Given the description of an element on the screen output the (x, y) to click on. 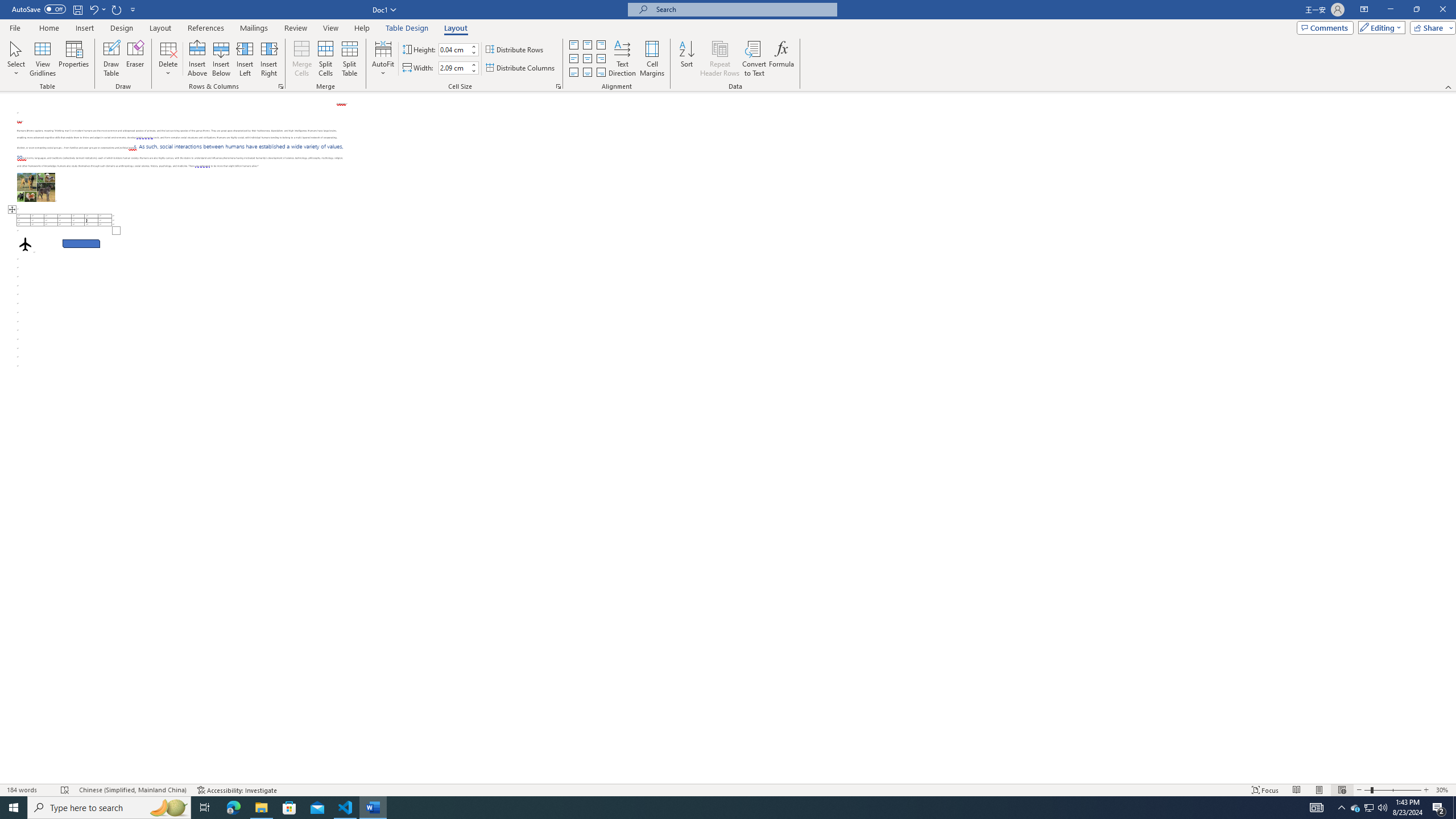
Split Cells... (325, 58)
View Gridlines (42, 58)
Comments (1325, 27)
Insert Cells... (280, 85)
Spelling and Grammar Check Errors (65, 790)
Convert to Text... (754, 58)
Close (1442, 9)
Save (77, 9)
Help (361, 28)
File Tab (15, 27)
More (473, 64)
Accessibility Checker Accessibility: Investigate (237, 790)
Customize Quick Access Toolbar (133, 9)
Class: NetUIScrollBar (1450, 437)
